Given the description of an element on the screen output the (x, y) to click on. 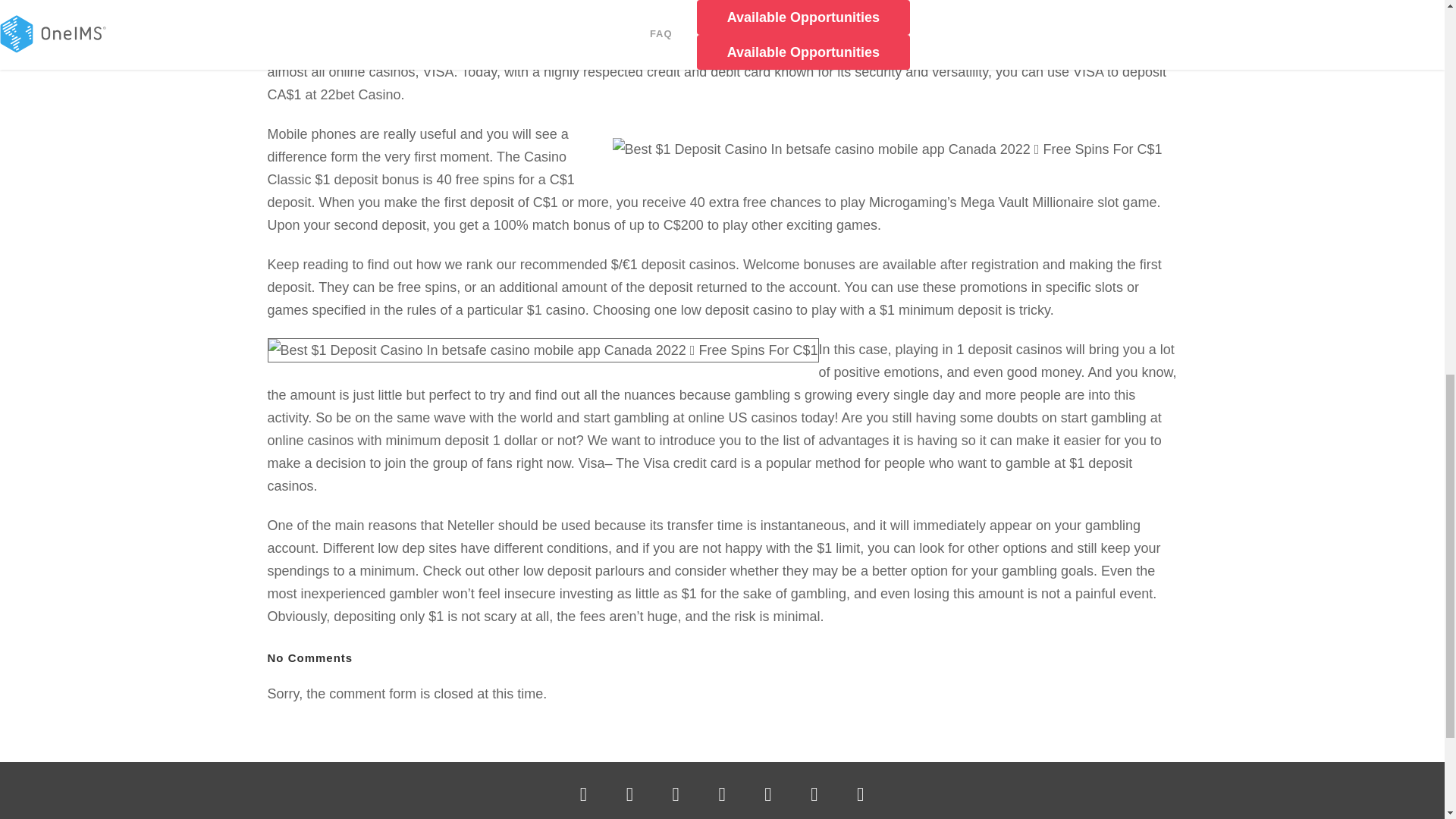
betsafe casino mobile app (1083, 26)
